Given the description of an element on the screen output the (x, y) to click on. 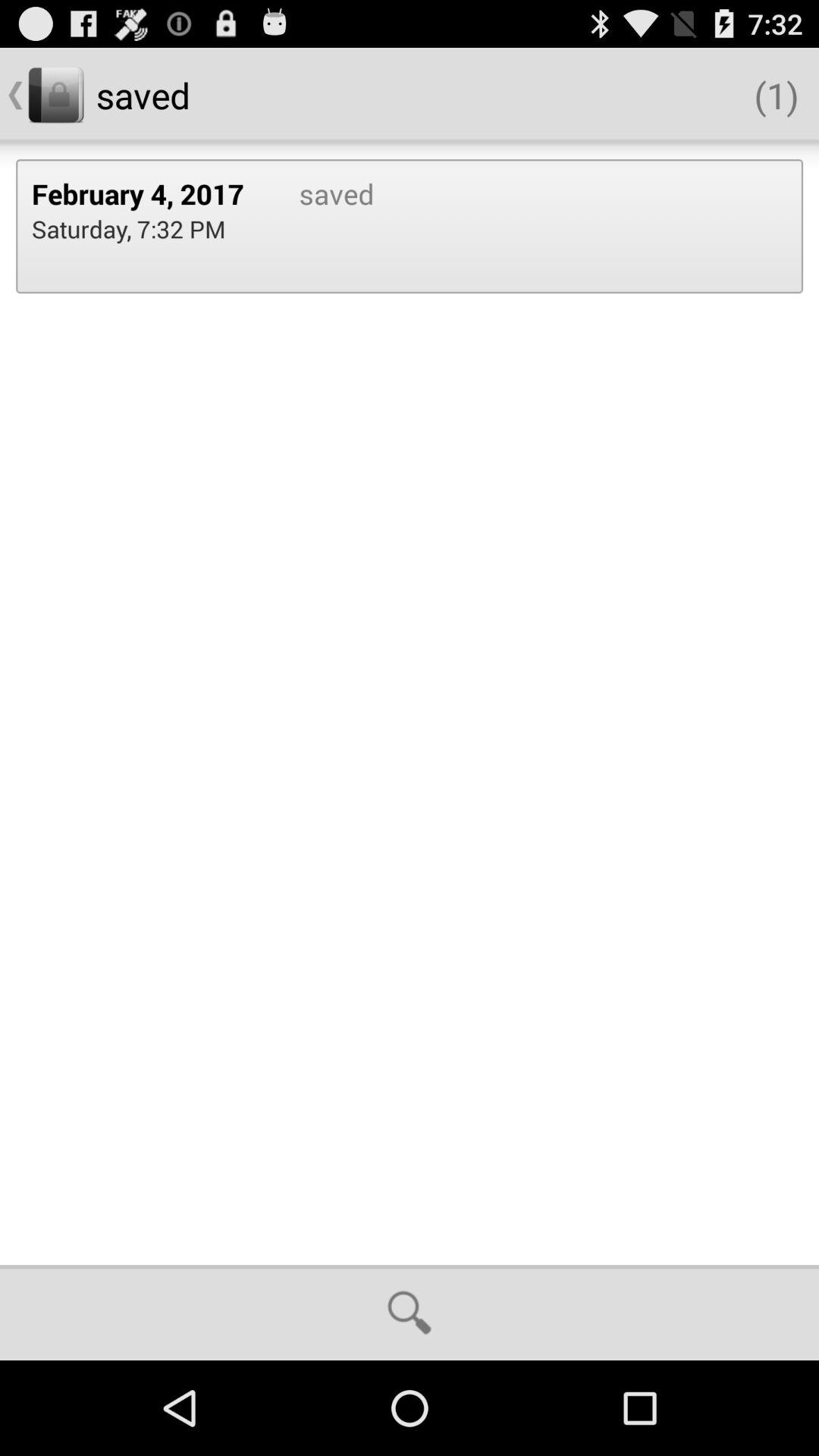
tap app to the left of the saved icon (149, 193)
